Given the description of an element on the screen output the (x, y) to click on. 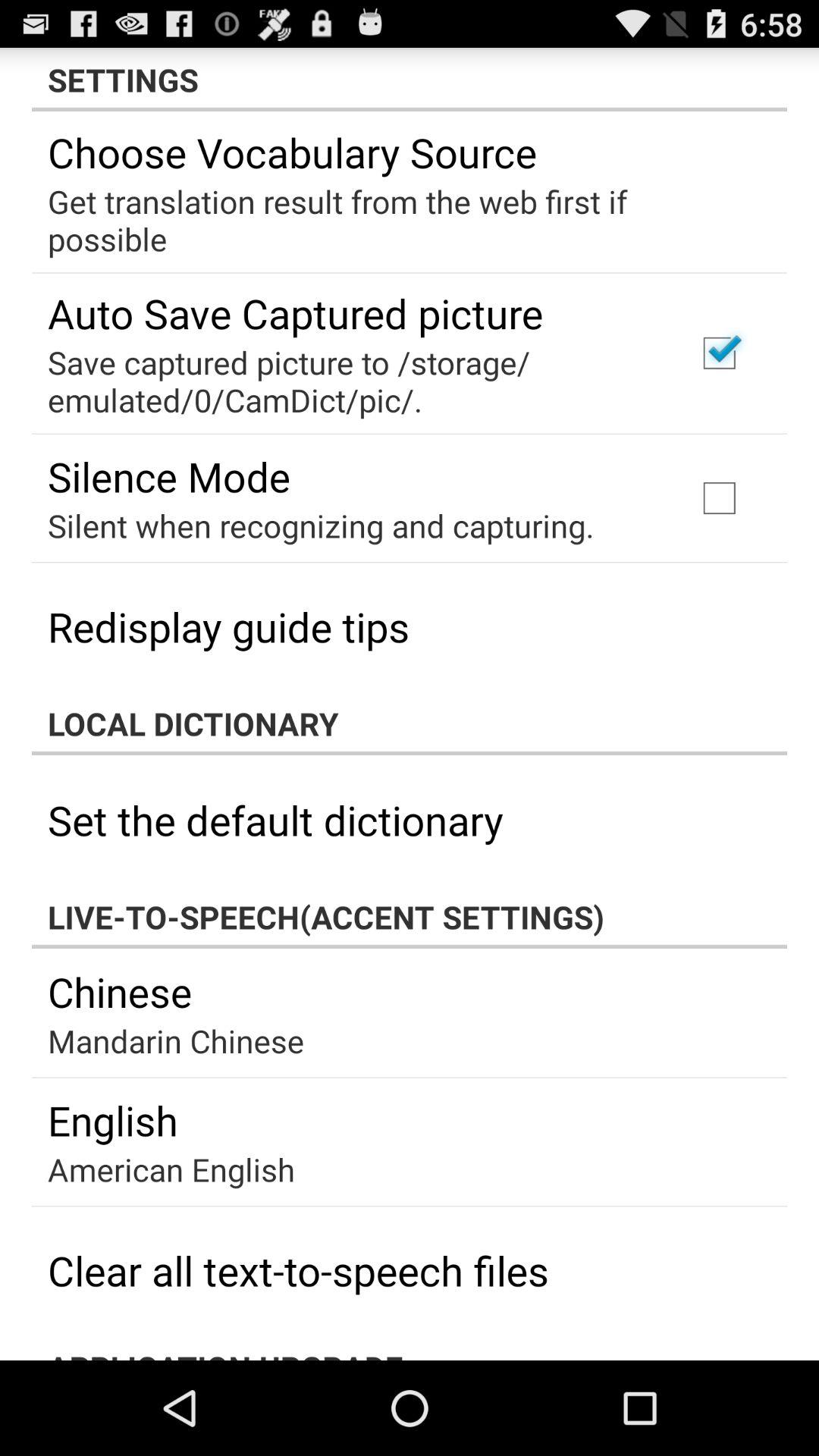
turn off silence mode (168, 475)
